Given the description of an element on the screen output the (x, y) to click on. 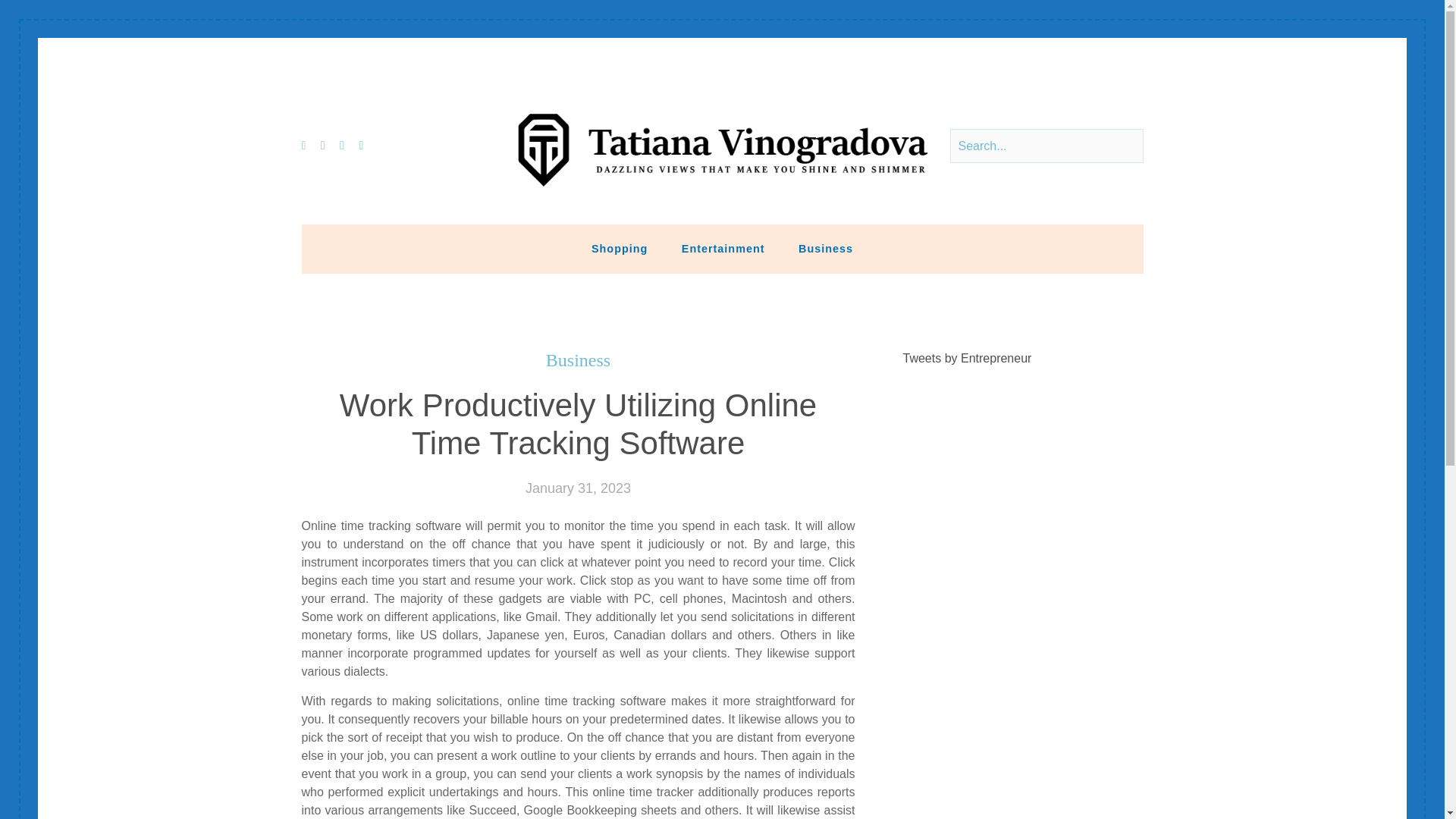
Shopping (619, 248)
Tweets by Entrepreneur (967, 358)
January 31, 2023 (577, 488)
Entertainment (723, 248)
Business (578, 360)
Business (825, 248)
